Given the description of an element on the screen output the (x, y) to click on. 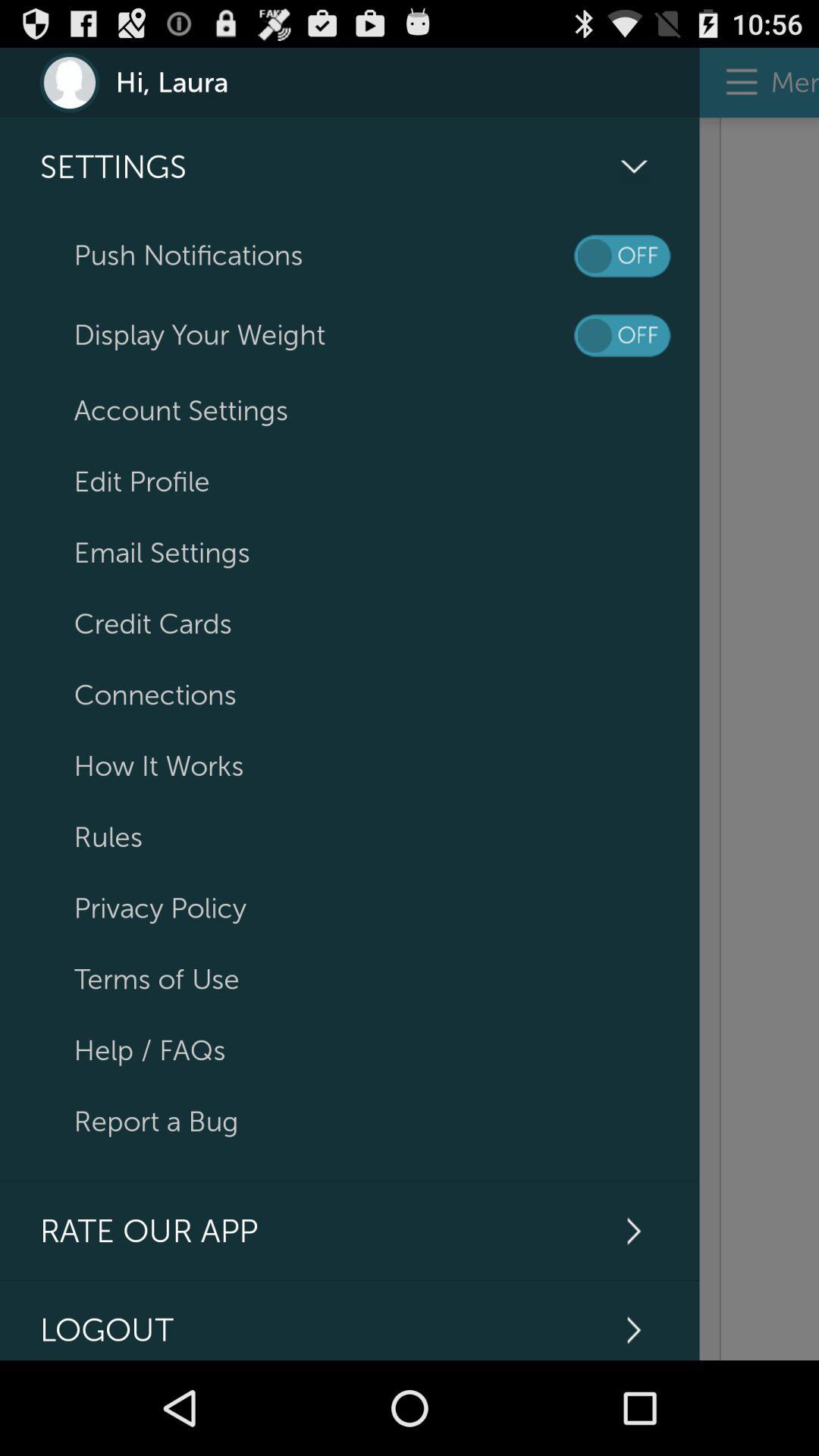
photograph (759, 738)
